Given the description of an element on the screen output the (x, y) to click on. 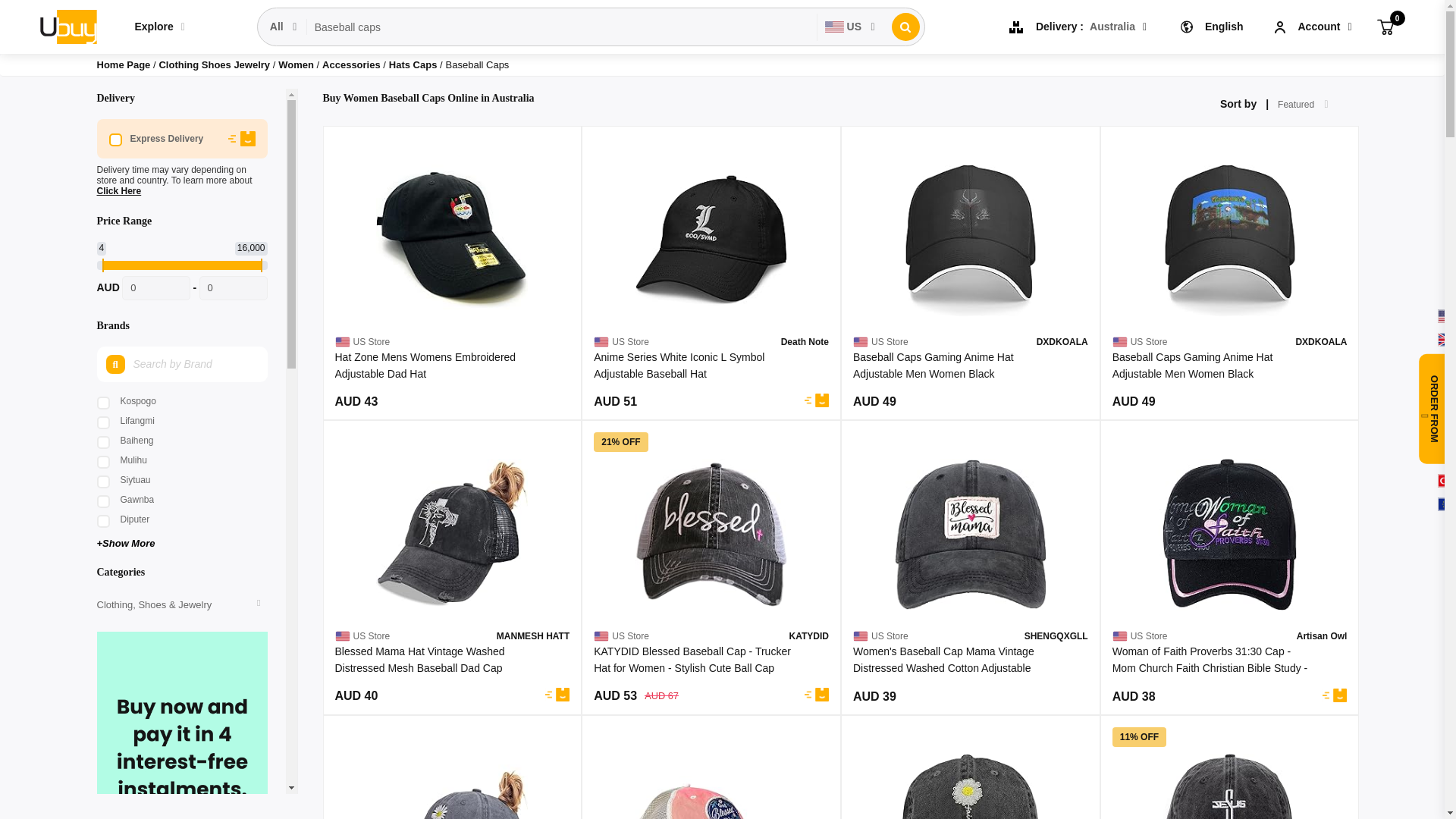
Women (296, 64)
Ubuy (67, 26)
Baseball caps (561, 26)
Hats Caps (413, 64)
Accessories (351, 64)
Women (296, 64)
0 (232, 288)
Kospogo (182, 400)
Home Page (124, 64)
Accessories (351, 64)
Cart (1385, 26)
0 (1385, 26)
Click Here (119, 190)
0 (156, 288)
Hats Caps (413, 64)
